Given the description of an element on the screen output the (x, y) to click on. 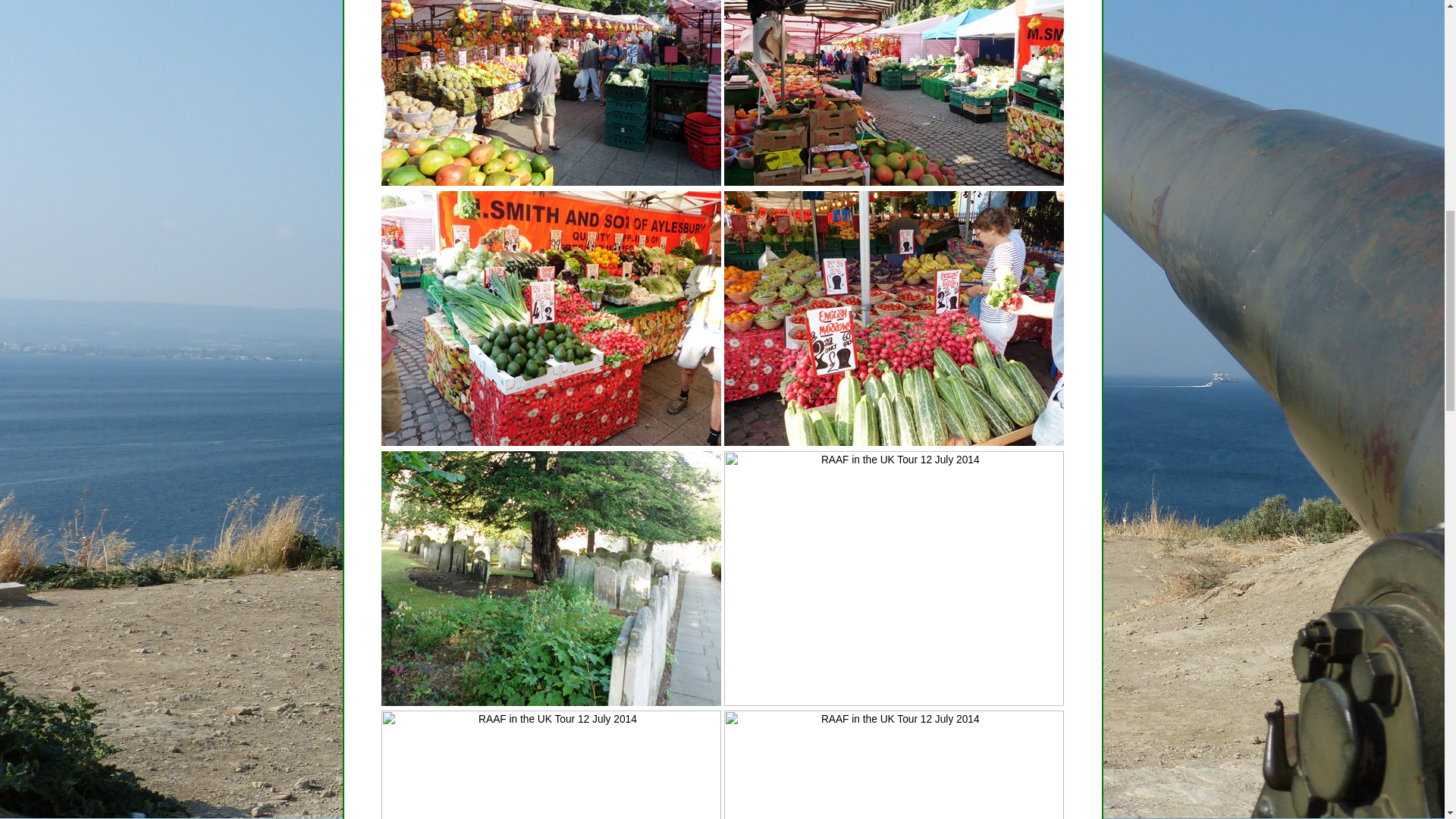
RAAF in the UK Tour 12 July 2014 (550, 764)
RAAF in the UK Tour 12 July 2014 (893, 764)
RAAF in the UK Tour 12 July 2014 (550, 92)
RAAF in the UK Tour 12 July 2014 (893, 92)
RAAF in the UK Tour 12 July 2014 (550, 317)
RAAF in the UK Tour 12 July 2014 (550, 578)
RAAF in the UK Tour 12 July 2014 (893, 317)
RAAF in the UK Tour 12 July 2014 (893, 578)
